Given the description of an element on the screen output the (x, y) to click on. 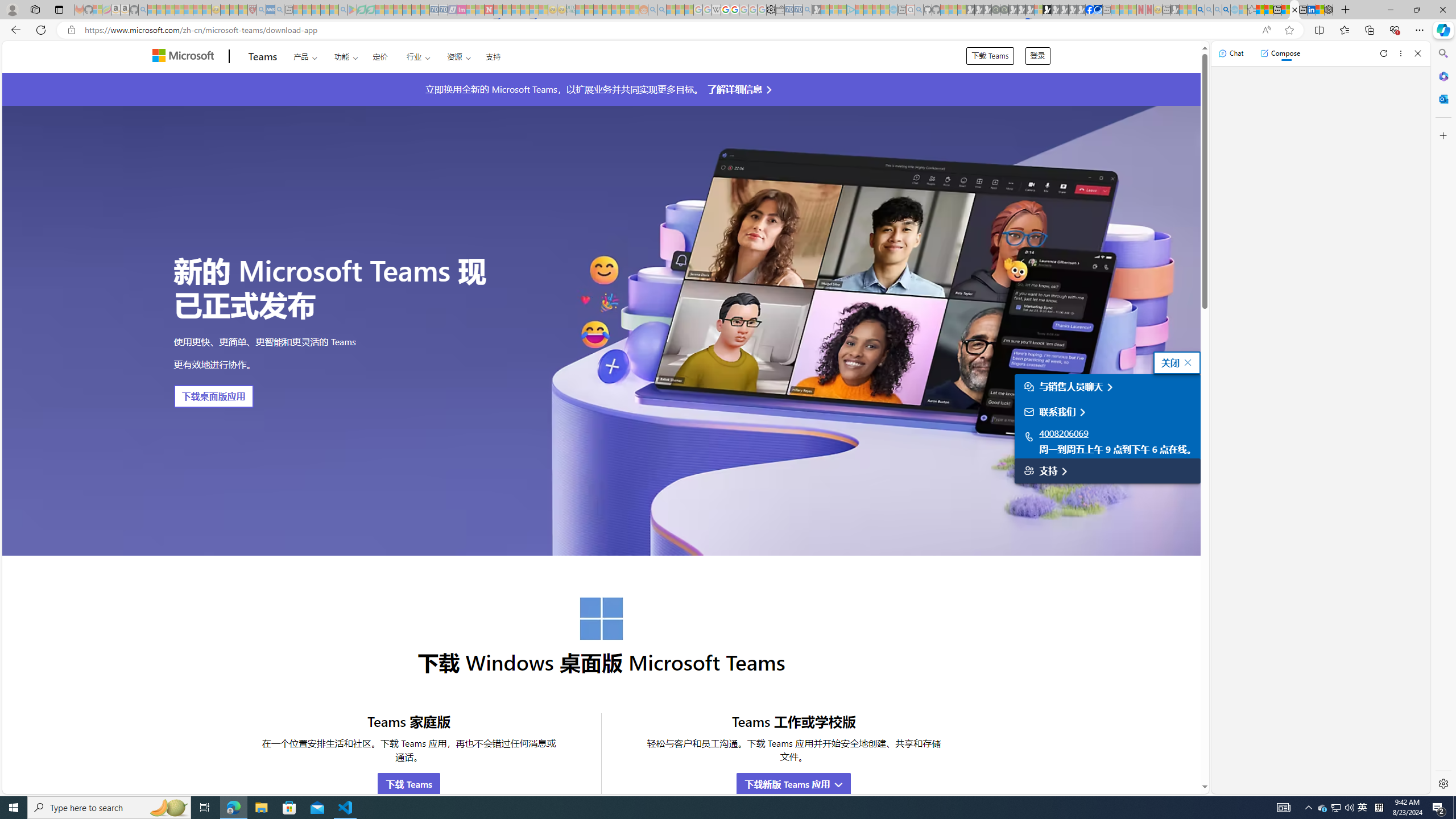
Google Chrome Internet Browser Download - Search Images (1225, 9)
Teams (262, 56)
Kinda Frugal - MSN - Sleeping (616, 9)
Bluey: Let's Play! - Apps on Google Play - Sleeping (352, 9)
Latest Politics News & Archive | Newsweek.com - Sleeping (488, 9)
Recipes - MSN - Sleeping (224, 9)
